Given the description of an element on the screen output the (x, y) to click on. 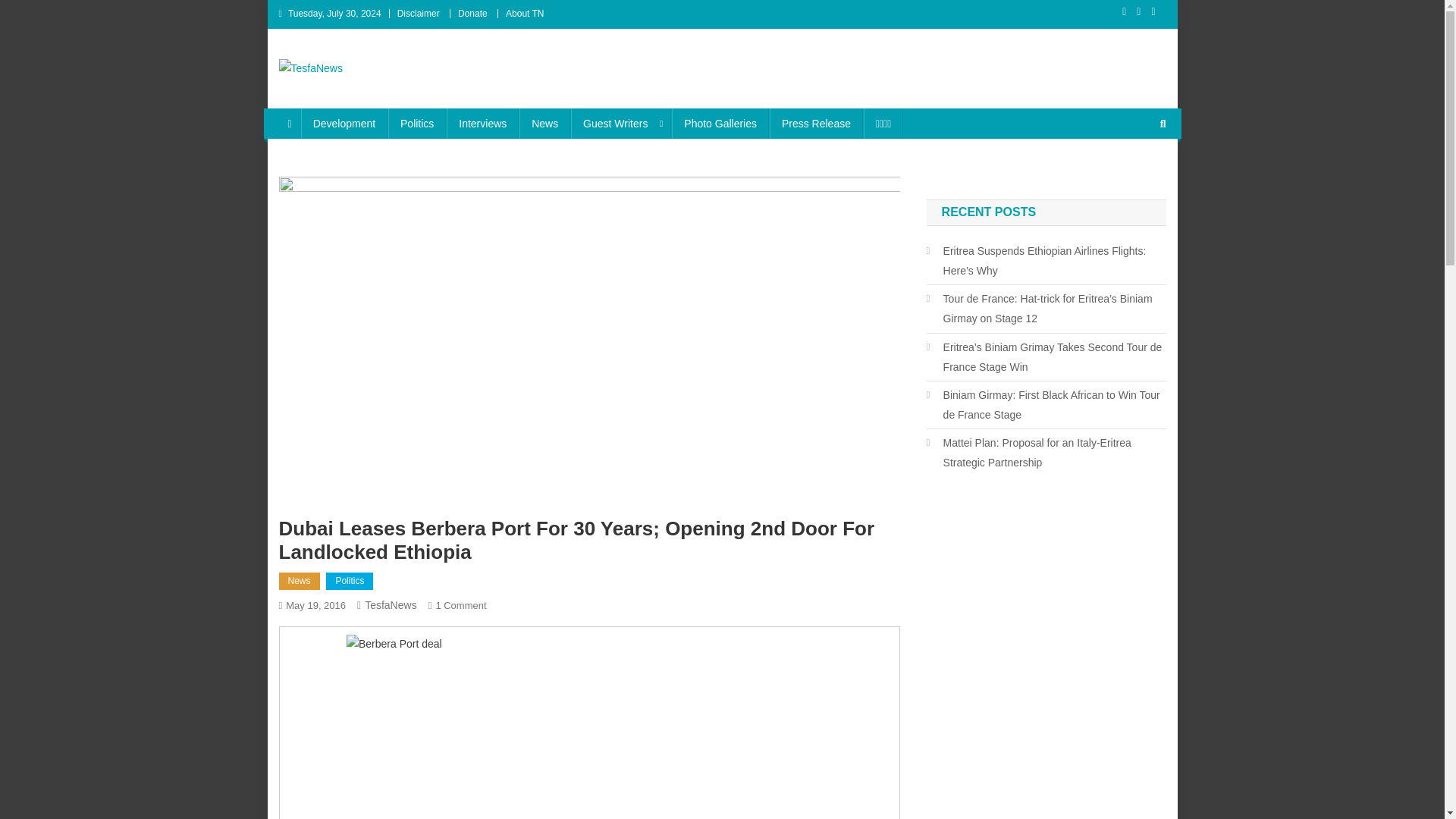
May 19, 2016 (315, 604)
Donate (472, 13)
Guest Writers (620, 123)
TesfaNews (341, 93)
Disclaimer (418, 13)
Photo Galleries (719, 123)
About TN (524, 13)
Press Release (816, 123)
Politics (416, 123)
Search (1133, 174)
TesfaNews (390, 604)
Politics (349, 581)
News (299, 581)
News (544, 123)
Interviews (482, 123)
